Given the description of an element on the screen output the (x, y) to click on. 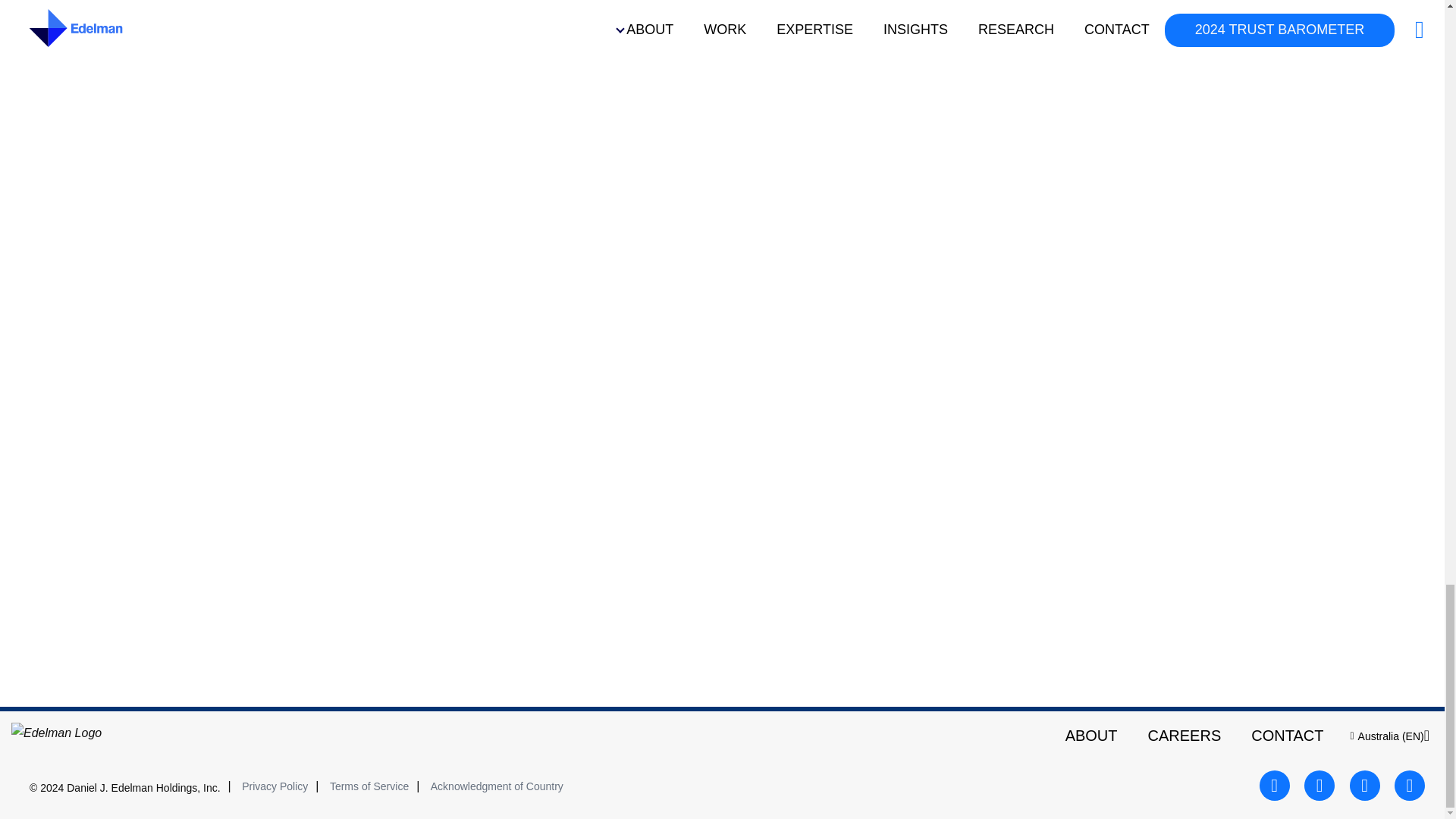
Follow Edelman on Facebook (1274, 785)
Follow Edelman on Twitter (1319, 785)
Follow Edelman on LinkedIn (1364, 785)
Follow Edelman on Instagram (1409, 785)
